Given the description of an element on the screen output the (x, y) to click on. 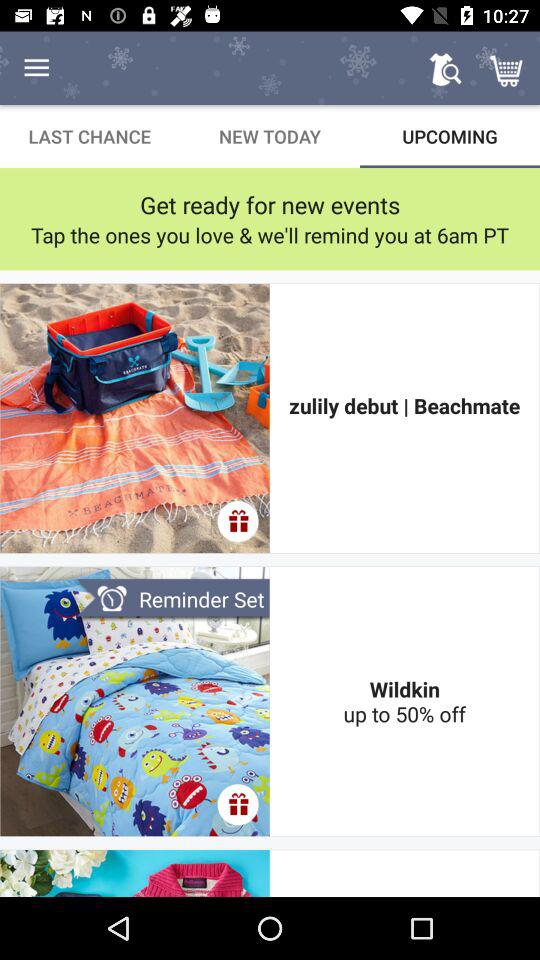
click tap the ones (270, 234)
